Given the description of an element on the screen output the (x, y) to click on. 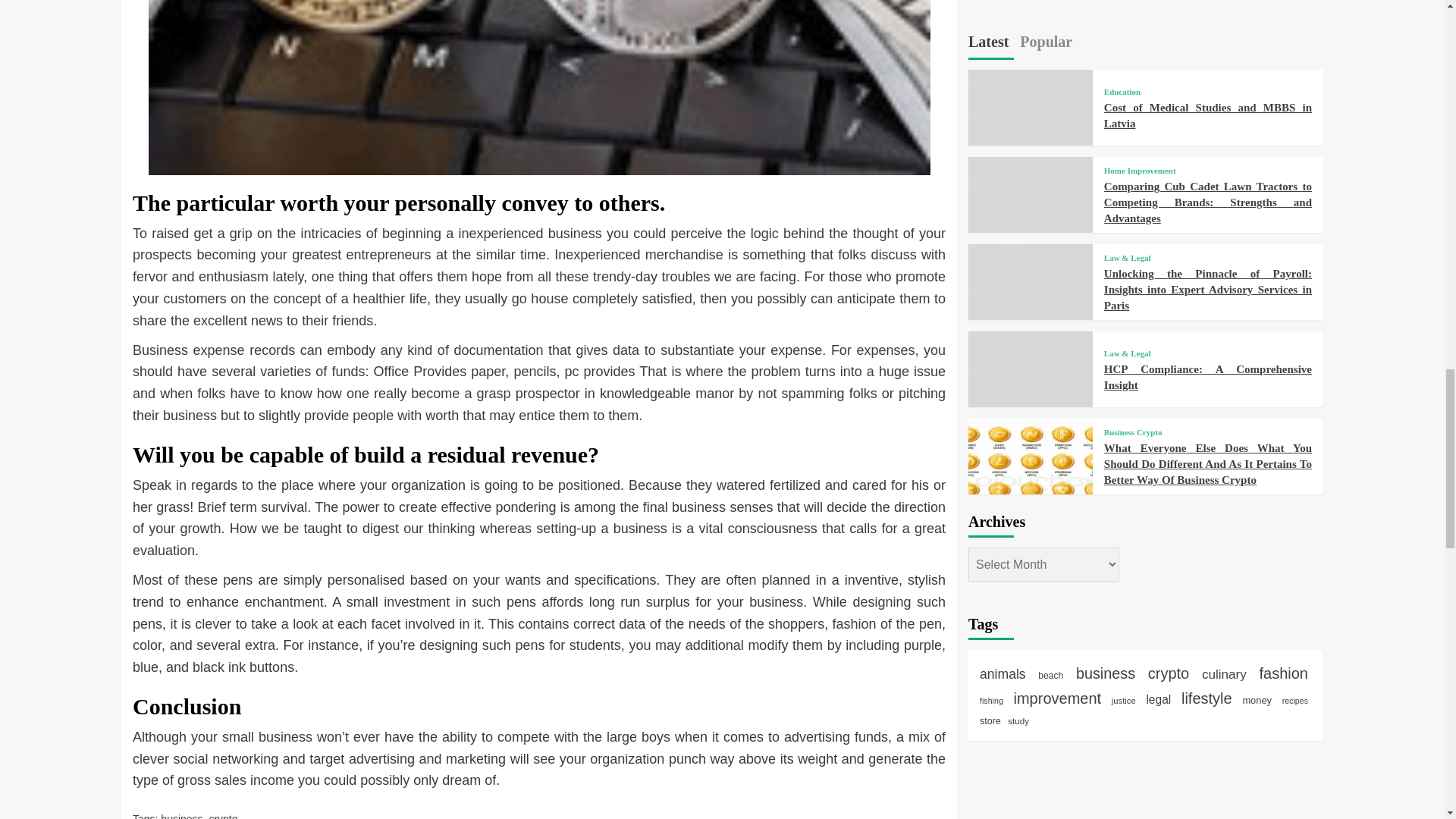
crypto (222, 816)
business (181, 816)
